Given the description of an element on the screen output the (x, y) to click on. 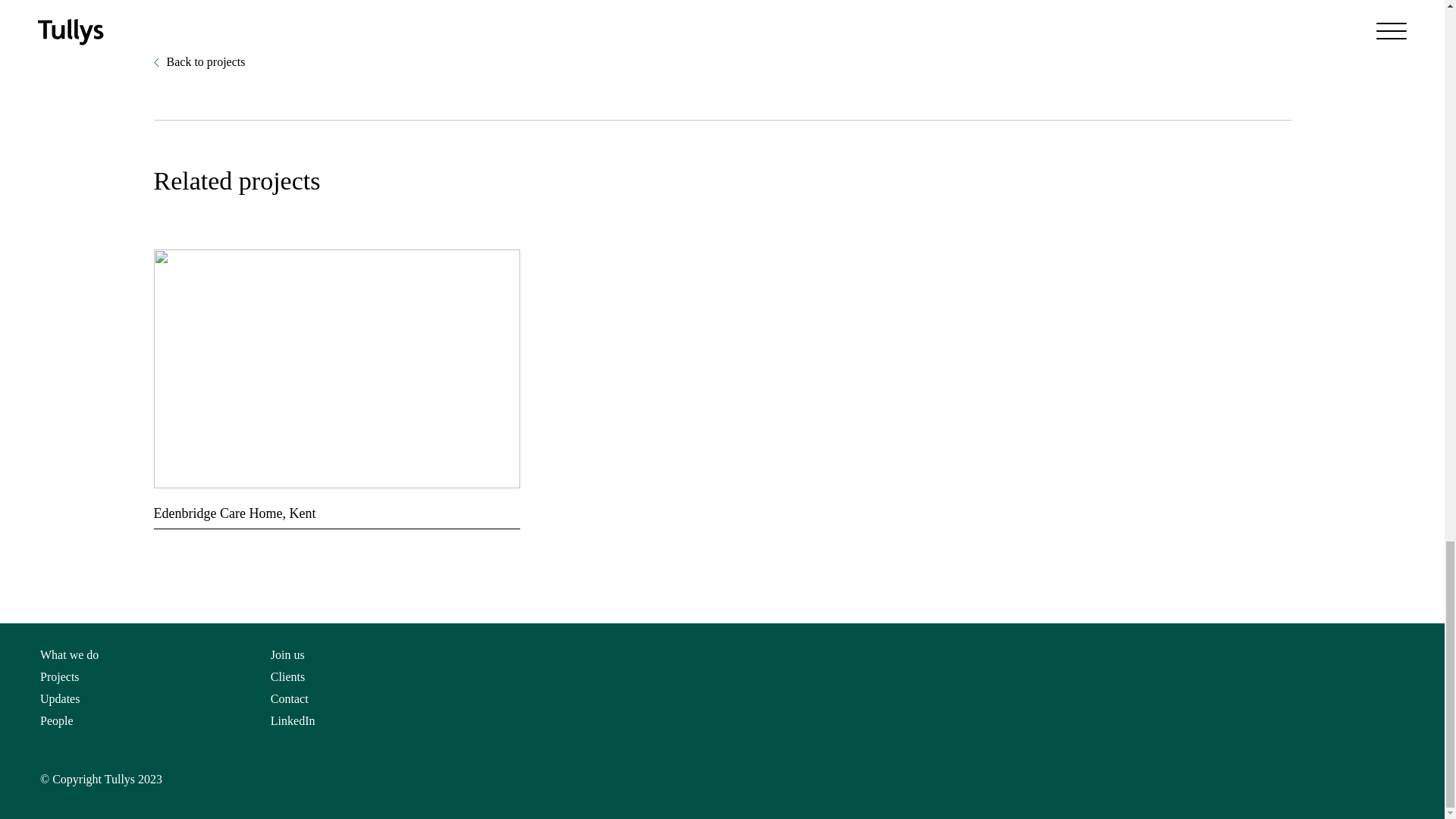
Projects (60, 676)
Edenbridge Care Home, Kent (335, 503)
Join us (287, 654)
People (57, 720)
Clients (287, 676)
What we do (69, 654)
Back to projects (198, 64)
Updates (60, 698)
LinkedIn (292, 720)
Contact (289, 698)
